Given the description of an element on the screen output the (x, y) to click on. 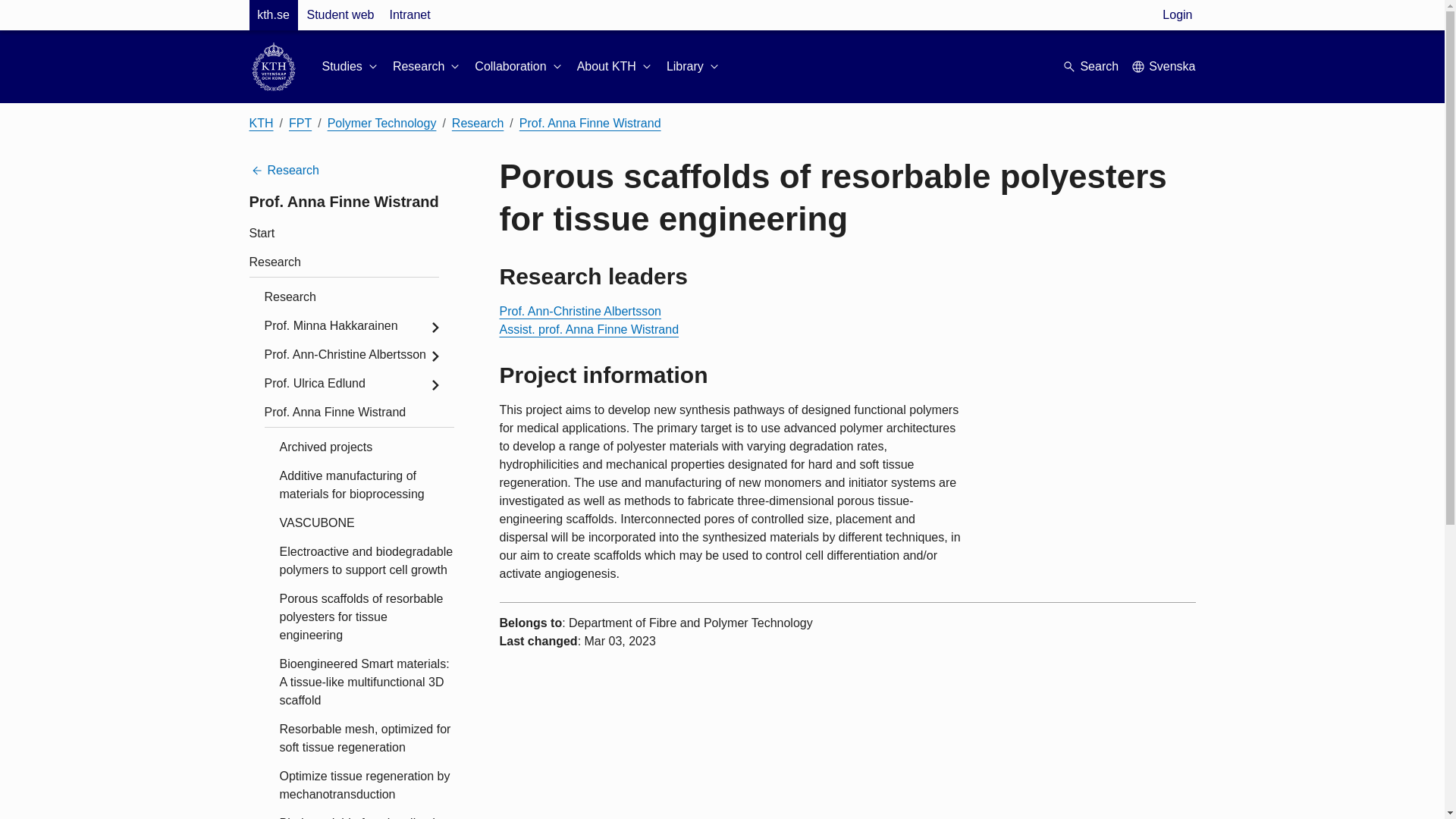
Student web (339, 15)
Intranet (408, 15)
Edit this page (505, 657)
About KTH (614, 66)
Research (428, 66)
kth.se (272, 15)
Collaboration (519, 66)
Library (694, 66)
Studies (350, 66)
Login (1176, 15)
